Given the description of an element on the screen output the (x, y) to click on. 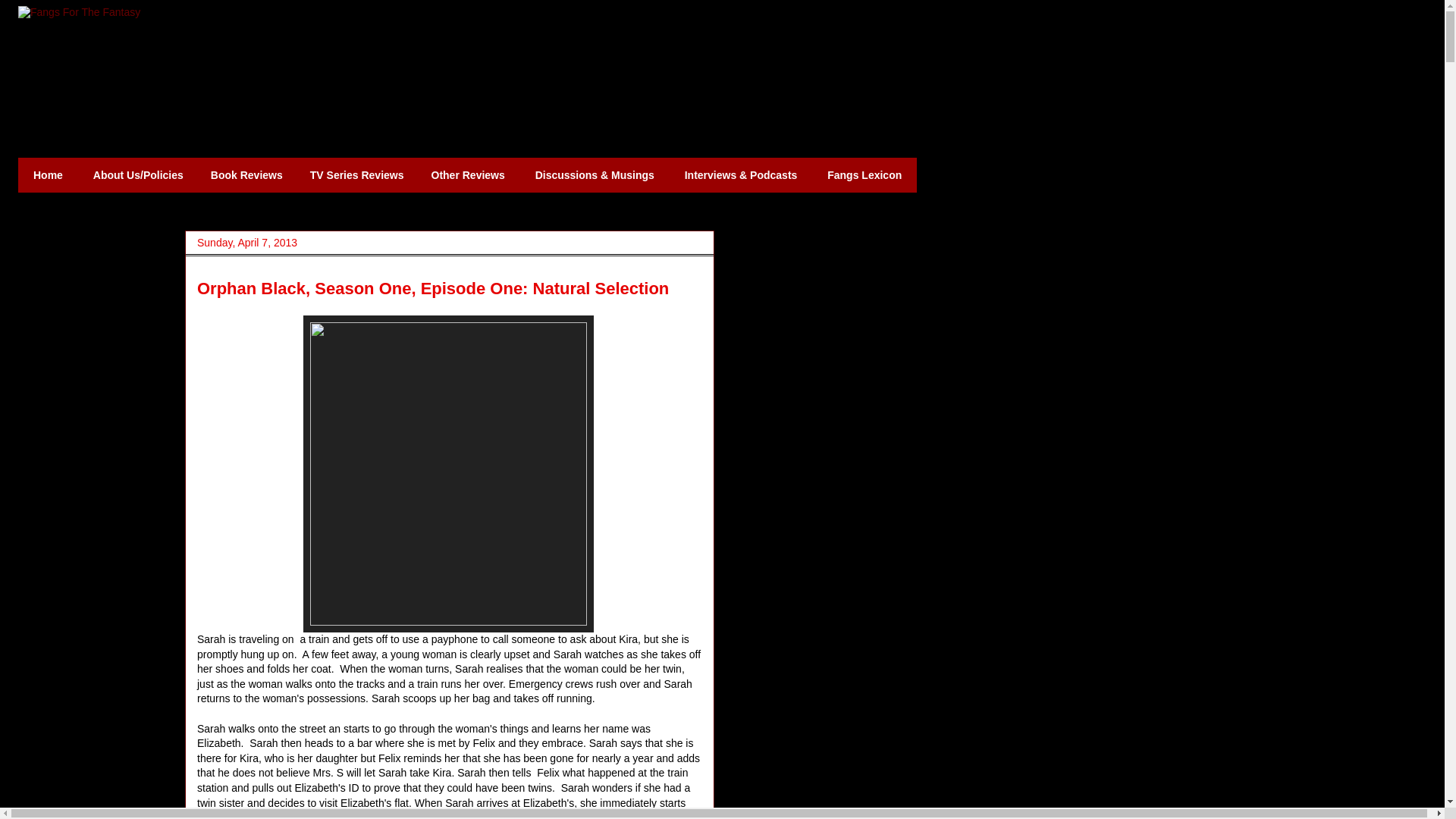
Home (47, 174)
Fangs Lexicon (864, 174)
